Given the description of an element on the screen output the (x, y) to click on. 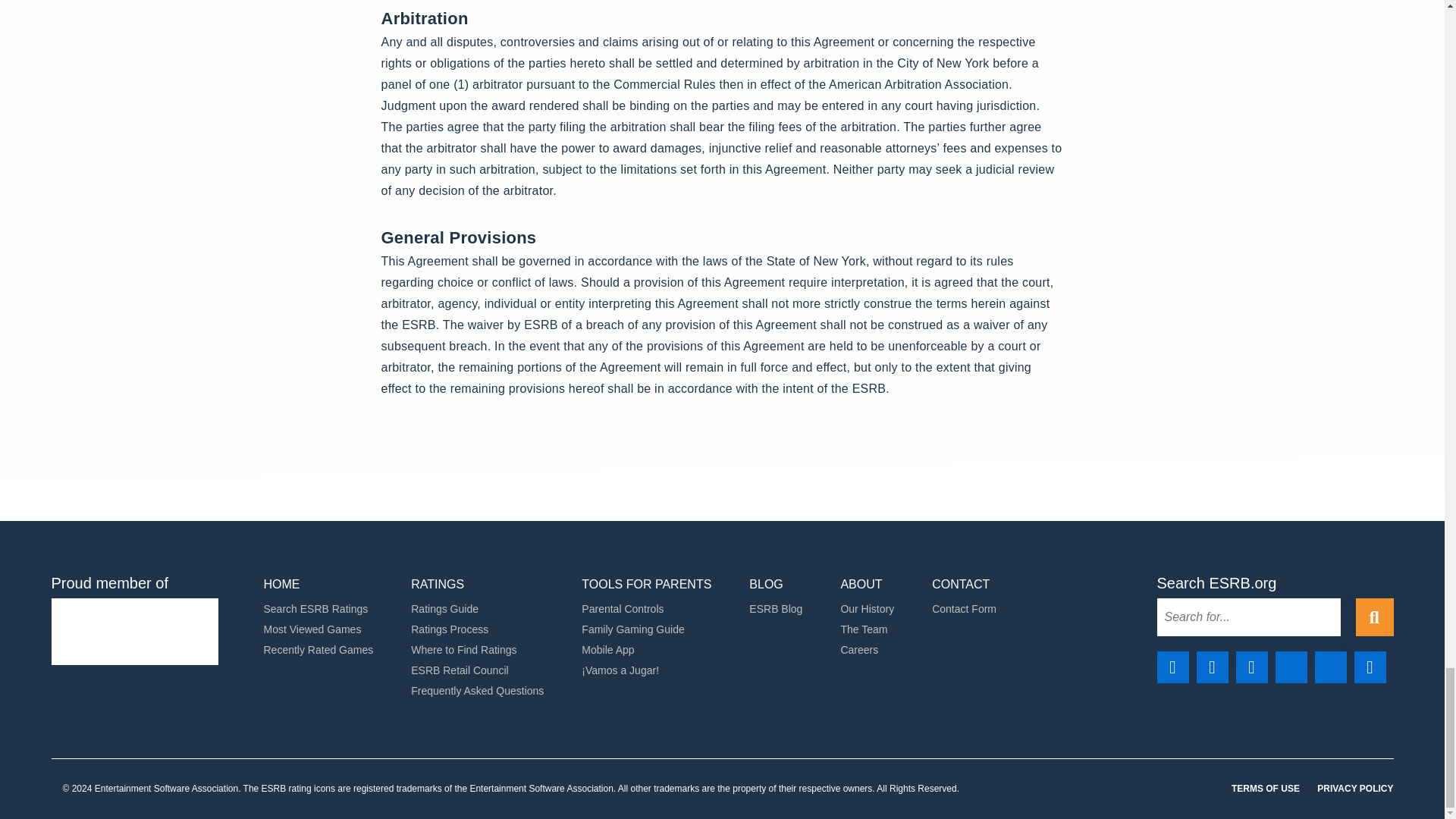
Search ESRB Ratings (315, 608)
ESRB Retail Council (459, 670)
Recently Rated Games (318, 649)
TOOLS FOR PARENTS (645, 584)
IARC - International Age Rating Coalition (134, 631)
instagram Profile Link (1212, 667)
Where to Find Ratings (463, 649)
youtube Profile Link (1370, 667)
Parental Controls (621, 608)
linkedin Profile Link (1252, 667)
